Given the description of an element on the screen output the (x, y) to click on. 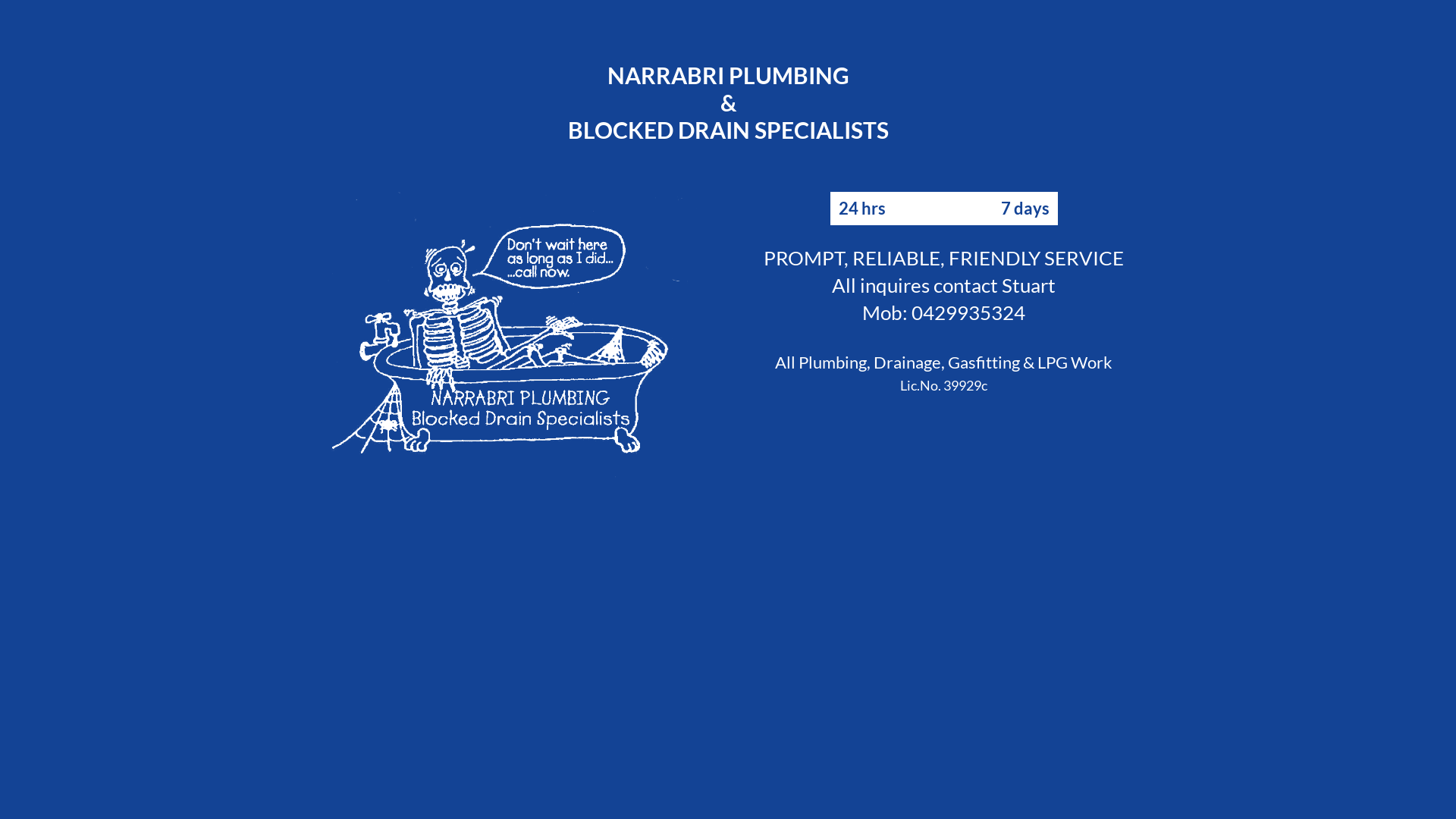
Narrabri plumbing logo Element type: hover (511, 335)
0429935324 Element type: text (968, 312)
